Given the description of an element on the screen output the (x, y) to click on. 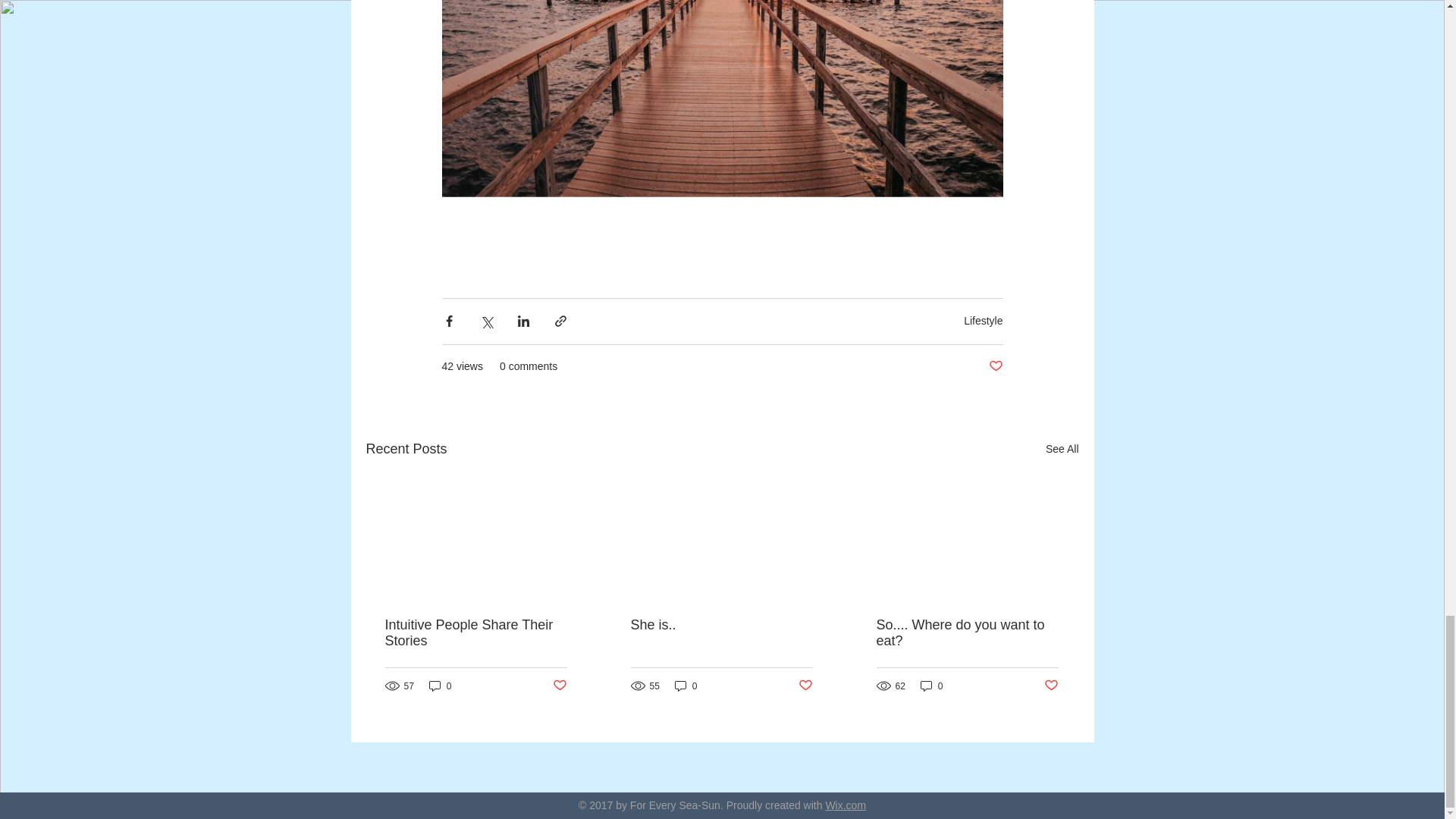
Post not marked as liked (995, 365)
Intuitive People Share Their Stories (476, 633)
Wix.com (845, 805)
0 (931, 685)
Lifestyle (983, 320)
Post not marked as liked (1050, 685)
So.... Where do you want to eat? (967, 633)
She is.. (721, 625)
0 (685, 685)
Post not marked as liked (804, 685)
See All (1061, 449)
0 (440, 685)
Post not marked as liked (558, 685)
